Given the description of an element on the screen output the (x, y) to click on. 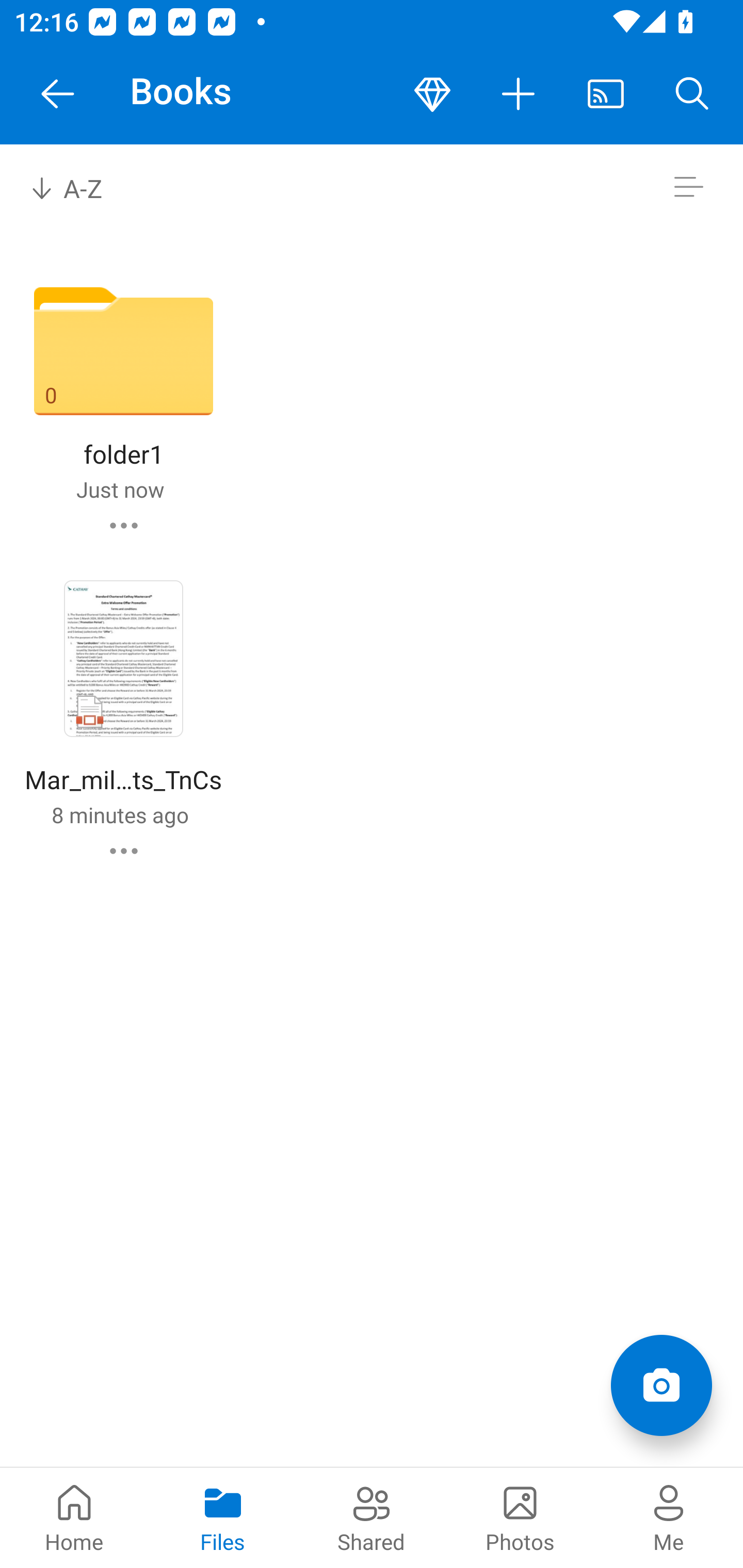
Navigate Up (57, 93)
Cast. Disconnected (605, 93)
Premium button (432, 93)
More actions button (518, 93)
Search button (692, 93)
A-Z Sort by combo box, sort by name, A to Z (80, 187)
Switch to list view (688, 187)
Just now (119, 489)
folder1 commands (123, 525)
8 minutes ago (119, 814)
Mar_miles_cathaycredits_TnCs commands (123, 851)
Add items Scan (660, 1385)
Home pivot Home (74, 1517)
Shared pivot Shared (371, 1517)
Photos pivot Photos (519, 1517)
Me pivot Me (668, 1517)
